Given the description of an element on the screen output the (x, y) to click on. 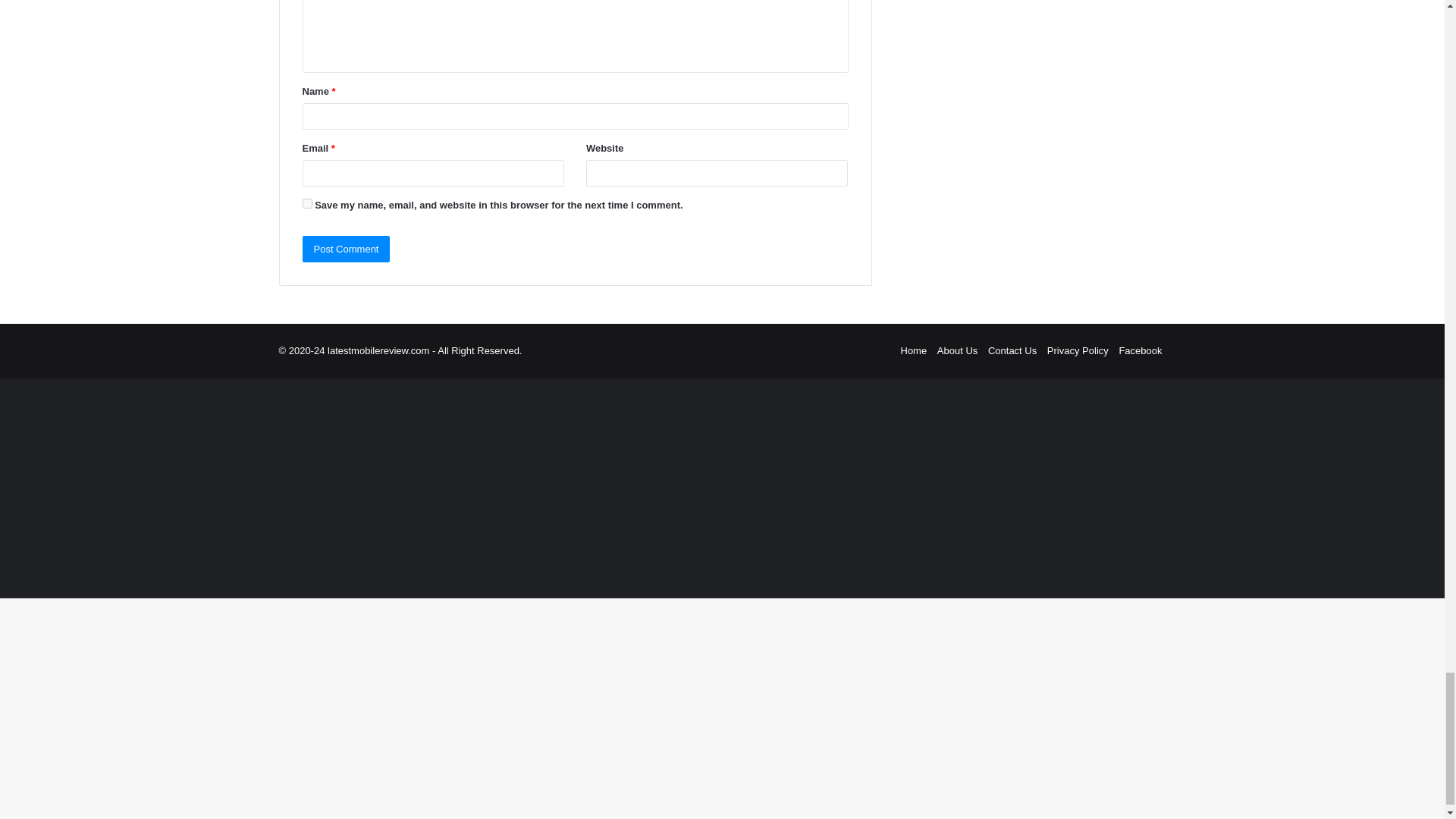
Post Comment (345, 248)
yes (306, 203)
